Given the description of an element on the screen output the (x, y) to click on. 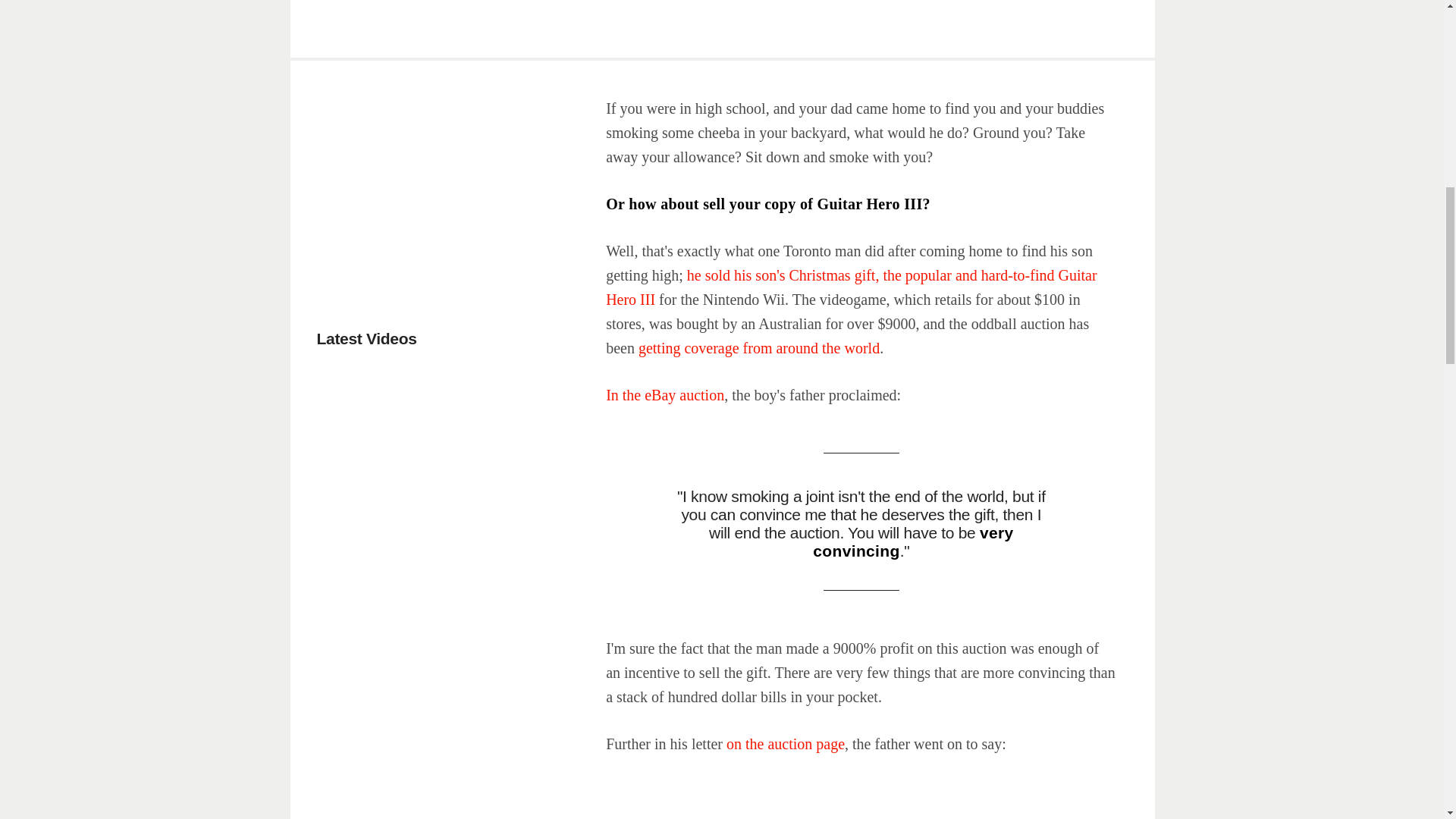
getting coverage (689, 347)
on the auction page (785, 743)
In the eBay auction (664, 394)
the world (850, 347)
from around (780, 347)
Guitar Hero III (850, 286)
